Given the description of an element on the screen output the (x, y) to click on. 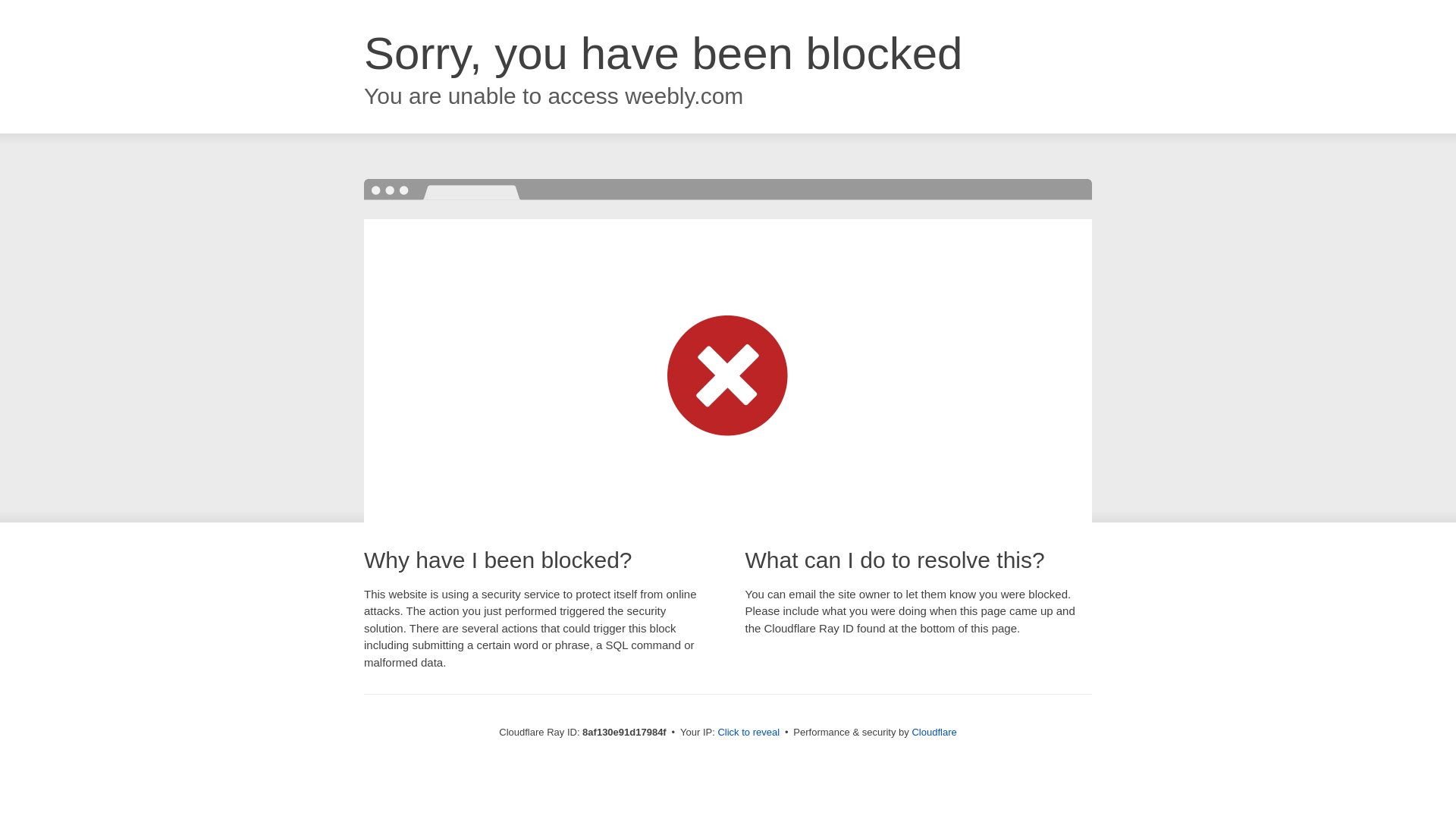
Cloudflare (933, 731)
Click to reveal (747, 732)
